Given the description of an element on the screen output the (x, y) to click on. 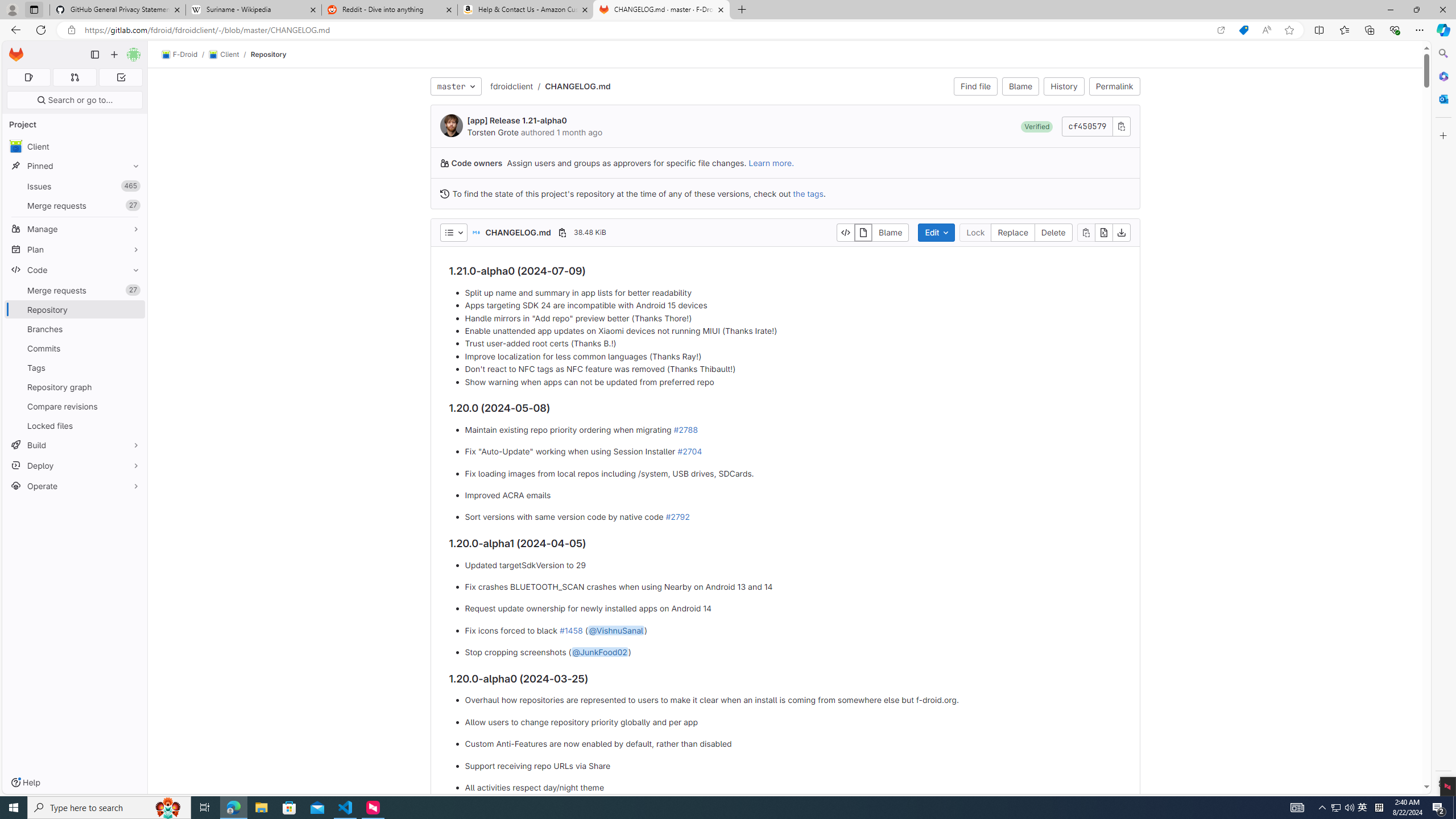
Help & Contact Us - Amazon Customer Service (525, 9)
Pin Repository (132, 309)
Pin Branches (132, 328)
Pin Compare revisions (132, 406)
Support receiving repo URLs via Share (792, 765)
F-Droid (179, 54)
Blame (1020, 85)
the tags (808, 193)
GitHub General Privacy Statement - GitHub Docs (117, 9)
Merge requests27 (74, 289)
Code (74, 269)
Repository graph (74, 386)
